Given the description of an element on the screen output the (x, y) to click on. 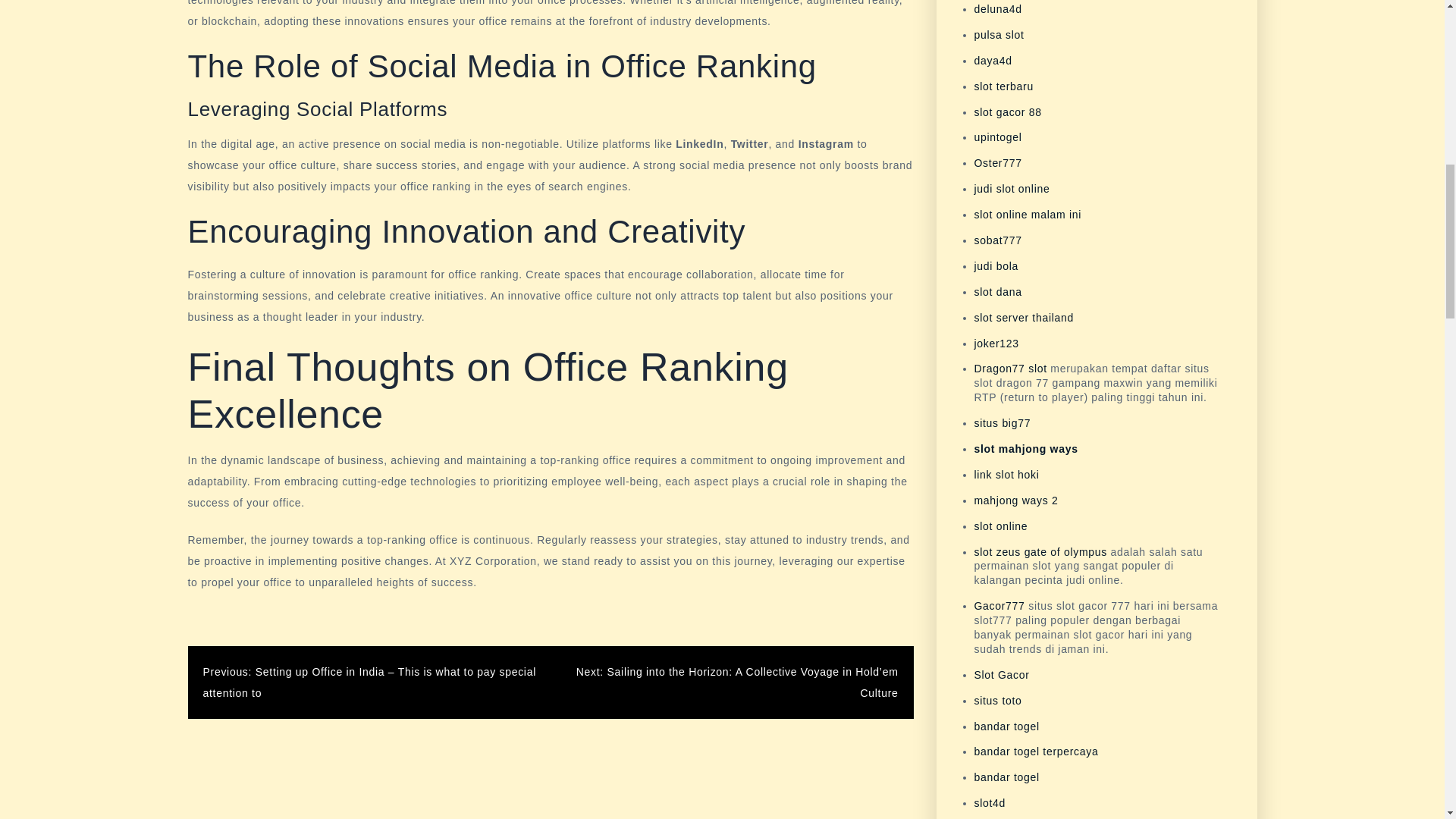
sobat777 (998, 240)
judi slot online (1011, 188)
deluna4d (998, 9)
daya4d (992, 60)
Oster777 (998, 162)
slot terbaru (1003, 86)
pulsa slot (998, 34)
upintogel (998, 137)
slot dana (998, 291)
joker123 (995, 343)
slot server thailand (1024, 317)
Dragon77 slot (1010, 368)
slot online malam ini (1027, 214)
judi bola (995, 265)
slot gacor 88 (1007, 111)
